Given the description of an element on the screen output the (x, y) to click on. 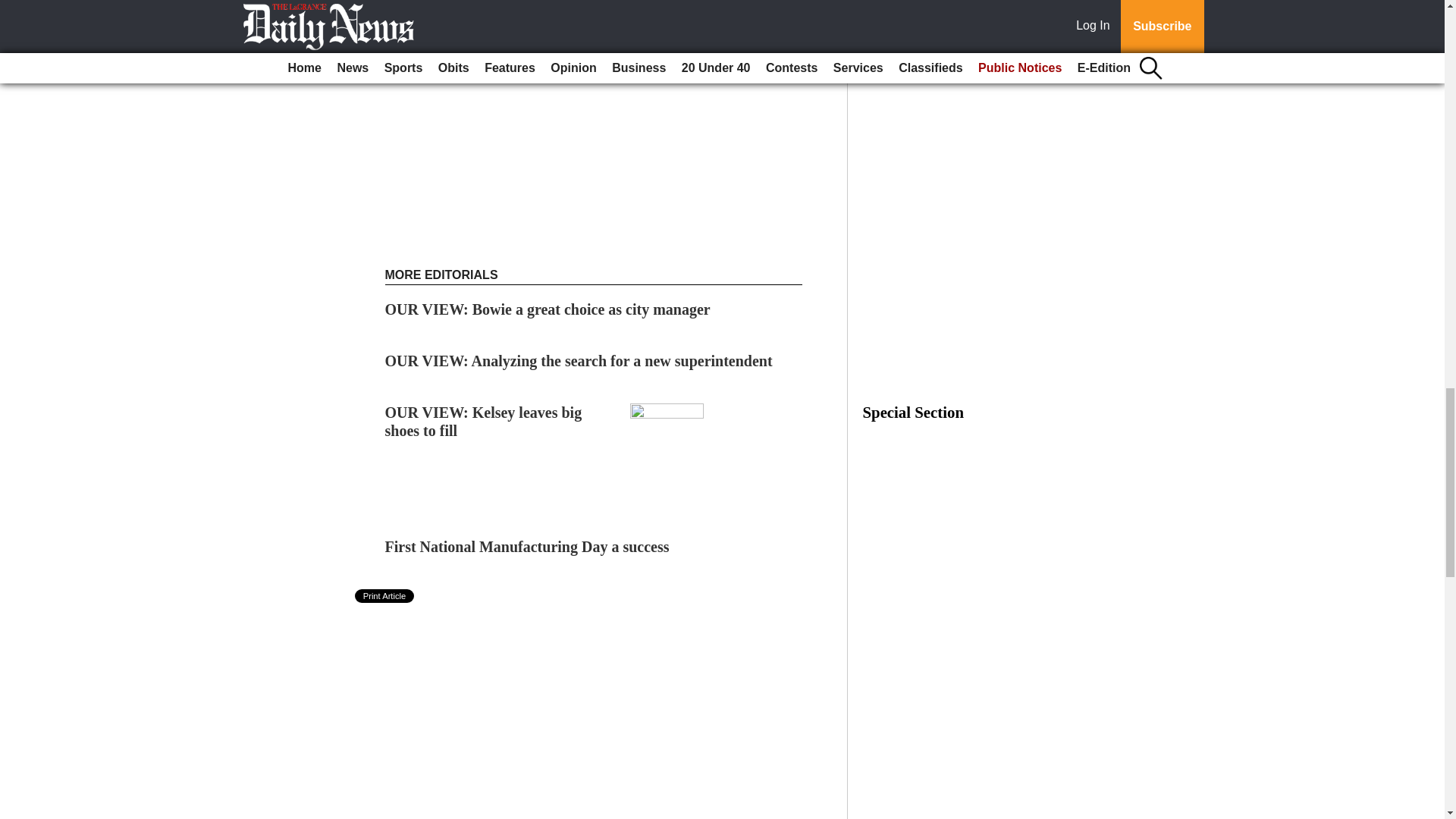
OUR VIEW: Analyzing the search for a new superintendent (579, 360)
OUR VIEW: Bowie a great choice as city manager (547, 309)
First National Manufacturing Day a success (527, 546)
OUR VIEW: Kelsey leaves big shoes to fill (483, 421)
OUR VIEW: Kelsey leaves big shoes to fill (483, 421)
Print Article (384, 595)
OUR VIEW: Analyzing the search for a new superintendent (579, 360)
First National Manufacturing Day a success (527, 546)
OUR VIEW: Bowie a great choice as city manager (547, 309)
